Given the description of an element on the screen output the (x, y) to click on. 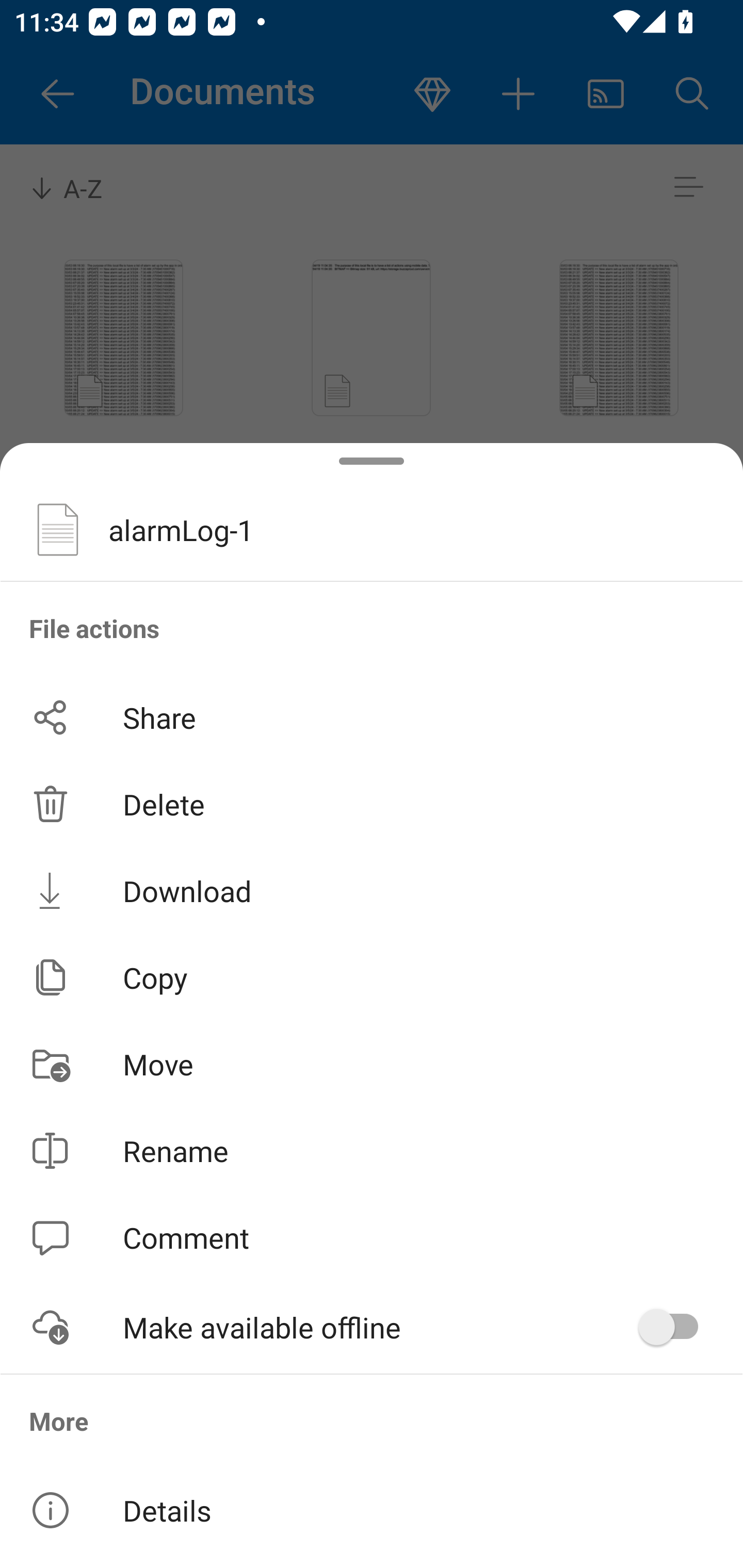
Share button Share (371, 717)
Delete button Delete (371, 803)
Download button Download (371, 890)
Copy button Copy (371, 977)
Move button Move (371, 1063)
Rename button Rename (371, 1150)
Comment button Comment (371, 1237)
Make offline operation (674, 1327)
Details button Details (371, 1510)
